Given the description of an element on the screen output the (x, y) to click on. 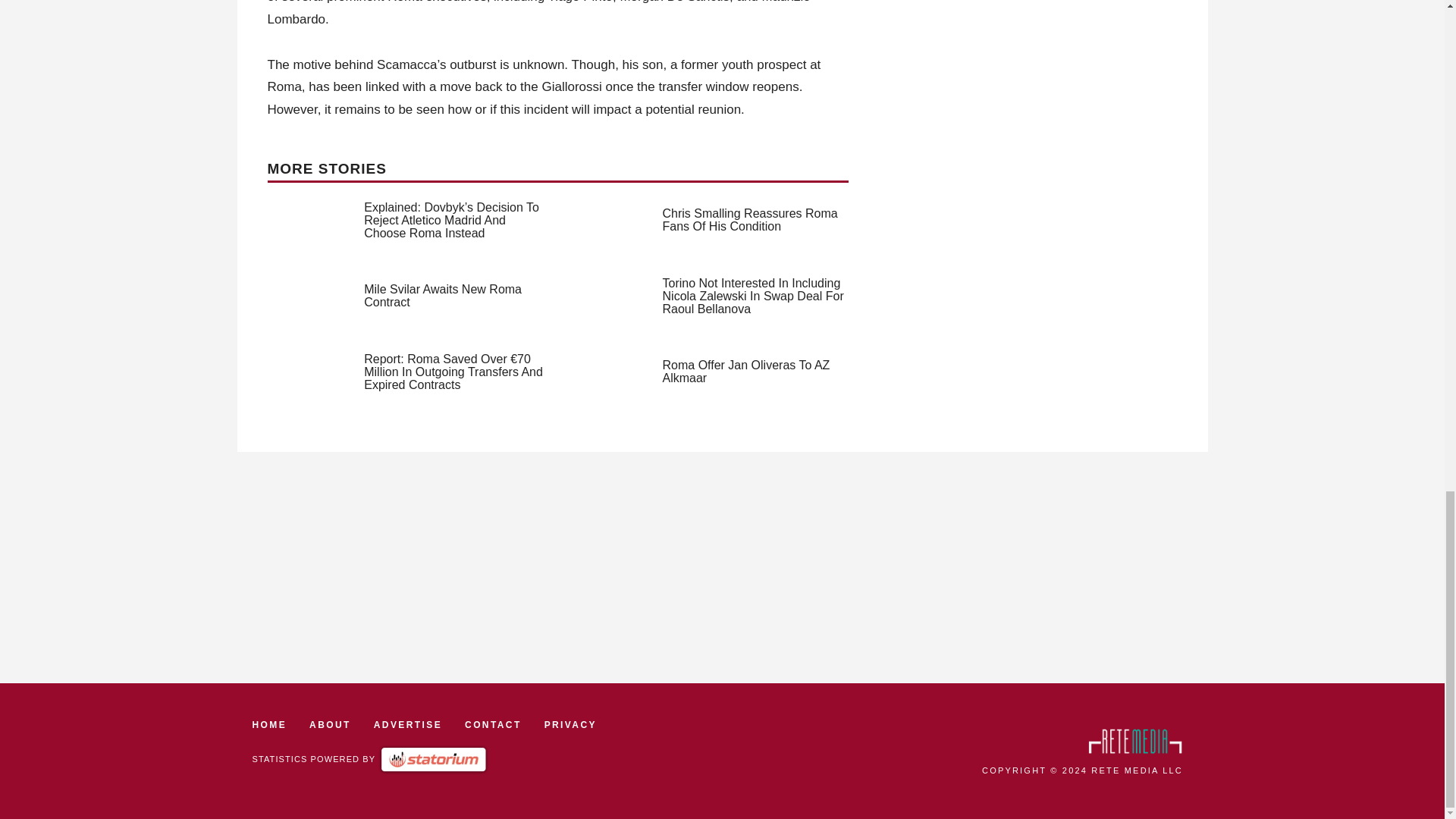
Chris Smalling Reassures Roma Fans Of His Condition (750, 219)
CONTACT (492, 725)
HOME (268, 725)
ABOUT (329, 725)
Mile Svilar Awaits New Roma Contract (442, 295)
ADVERTISE (408, 725)
PRIVACY (570, 725)
Roma Offer Jan Oliveras To AZ Alkmaar (745, 371)
